Given the description of an element on the screen output the (x, y) to click on. 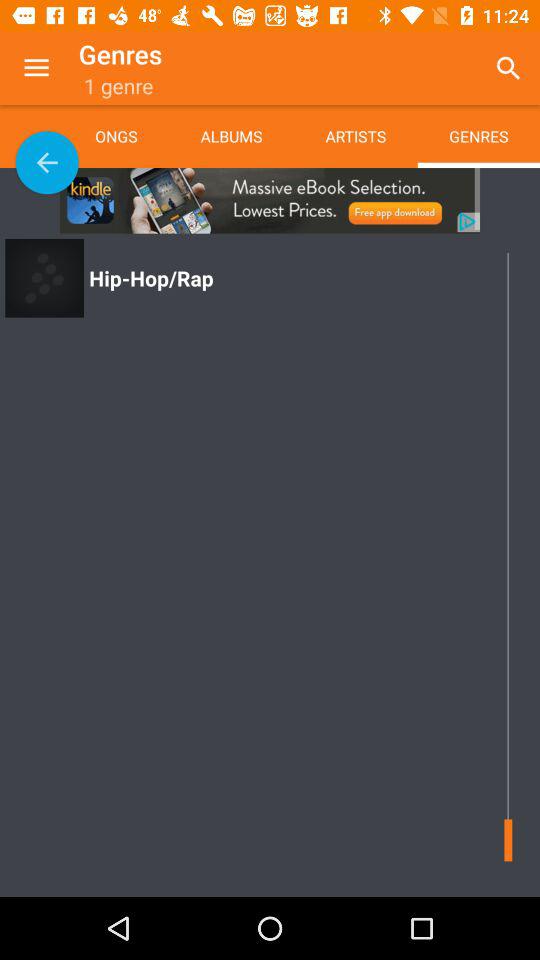
go back (47, 162)
